Given the description of an element on the screen output the (x, y) to click on. 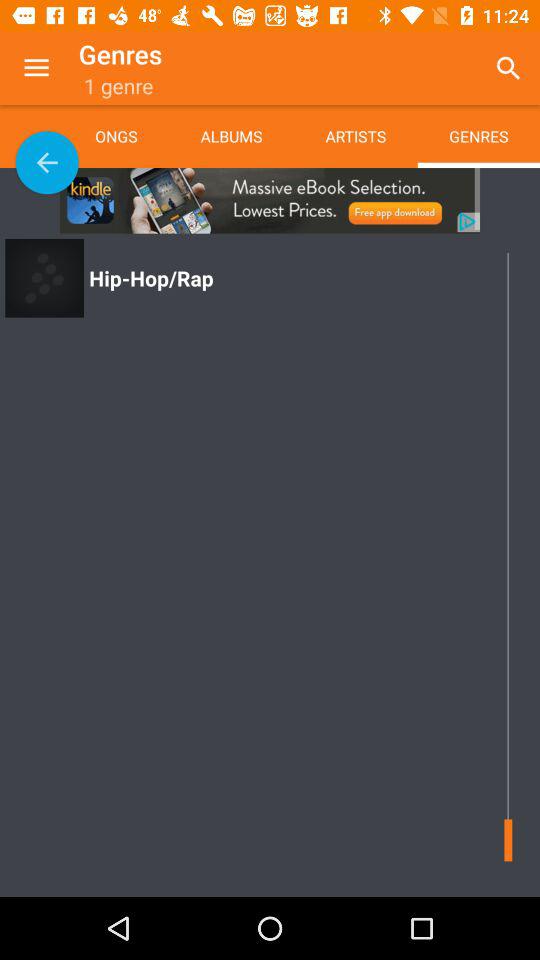
go back (47, 162)
